Given the description of an element on the screen output the (x, y) to click on. 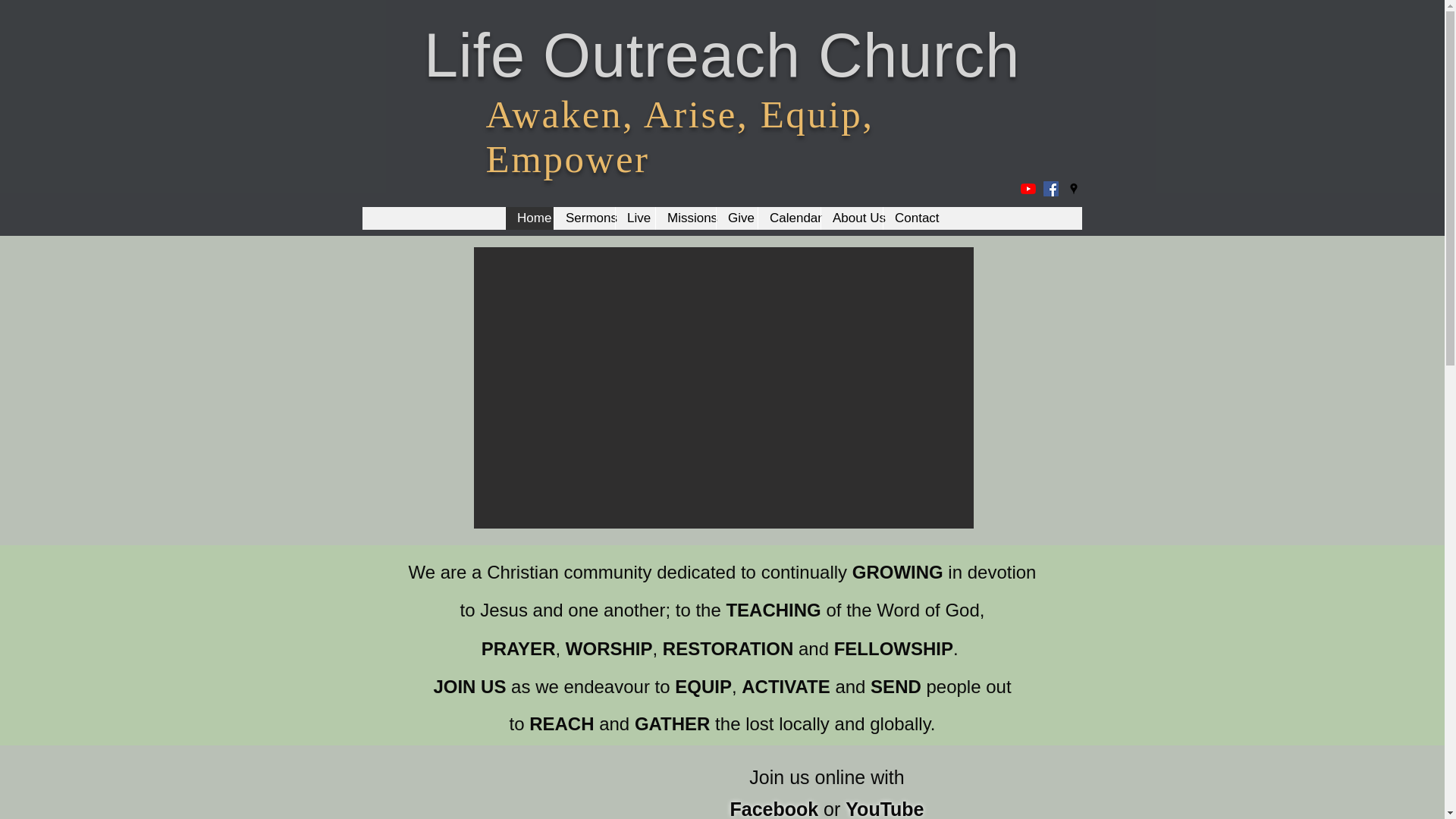
Live (634, 218)
Calendar (789, 218)
Missions (685, 218)
Give (736, 218)
Contact (910, 218)
Facebook (773, 808)
Sermons (583, 218)
Home (529, 218)
YouTube (884, 808)
About Us (851, 218)
